Given the description of an element on the screen output the (x, y) to click on. 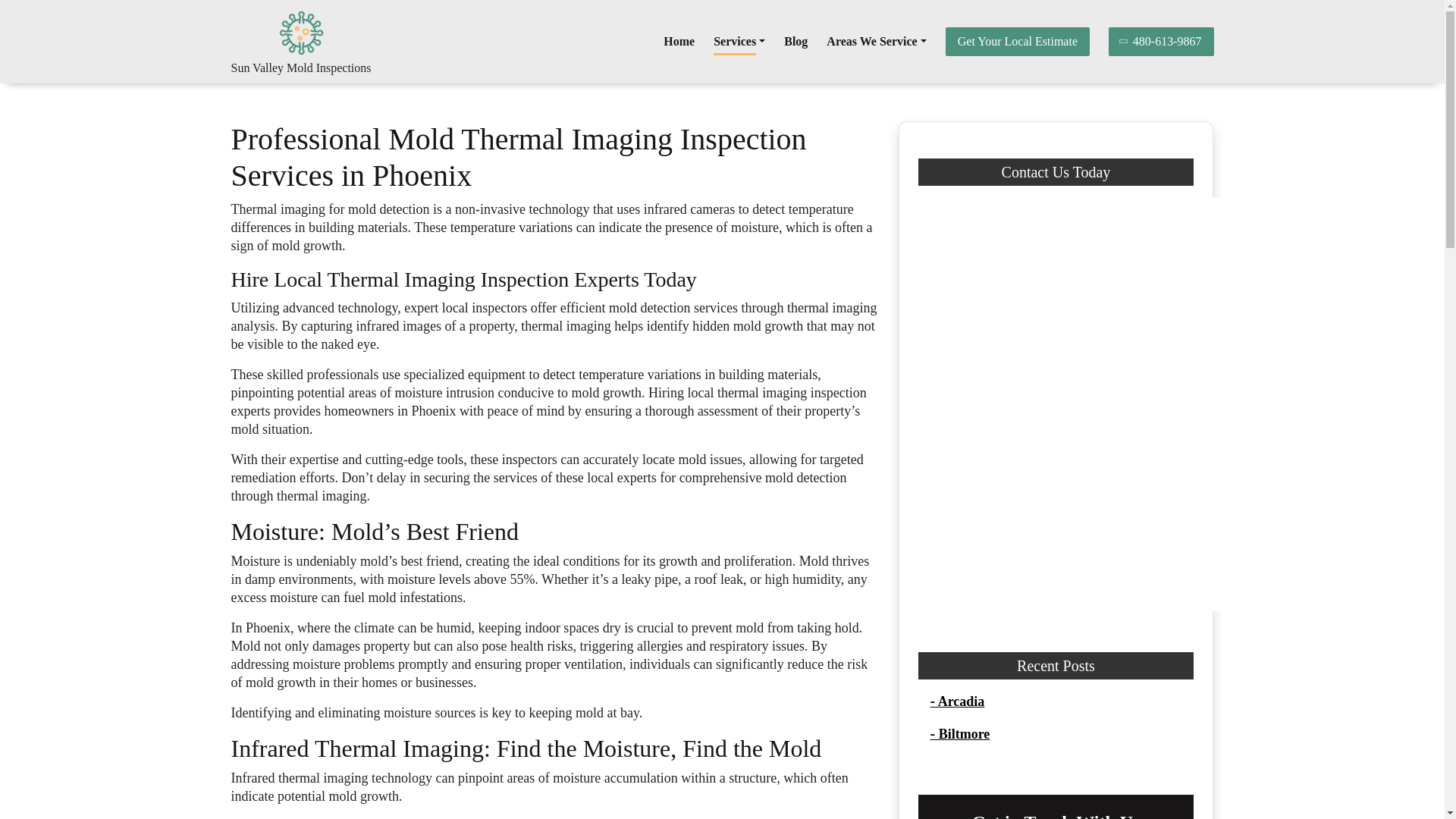
Sun Valley Mold Inspections (300, 67)
- Arcadia (957, 701)
480-613-9867 (1161, 41)
Areas We Service (876, 41)
Services (739, 41)
- Biltmore (960, 734)
Home (678, 41)
Home (678, 41)
Get Your Local Estimate (1016, 41)
Services (739, 41)
